Given the description of an element on the screen output the (x, y) to click on. 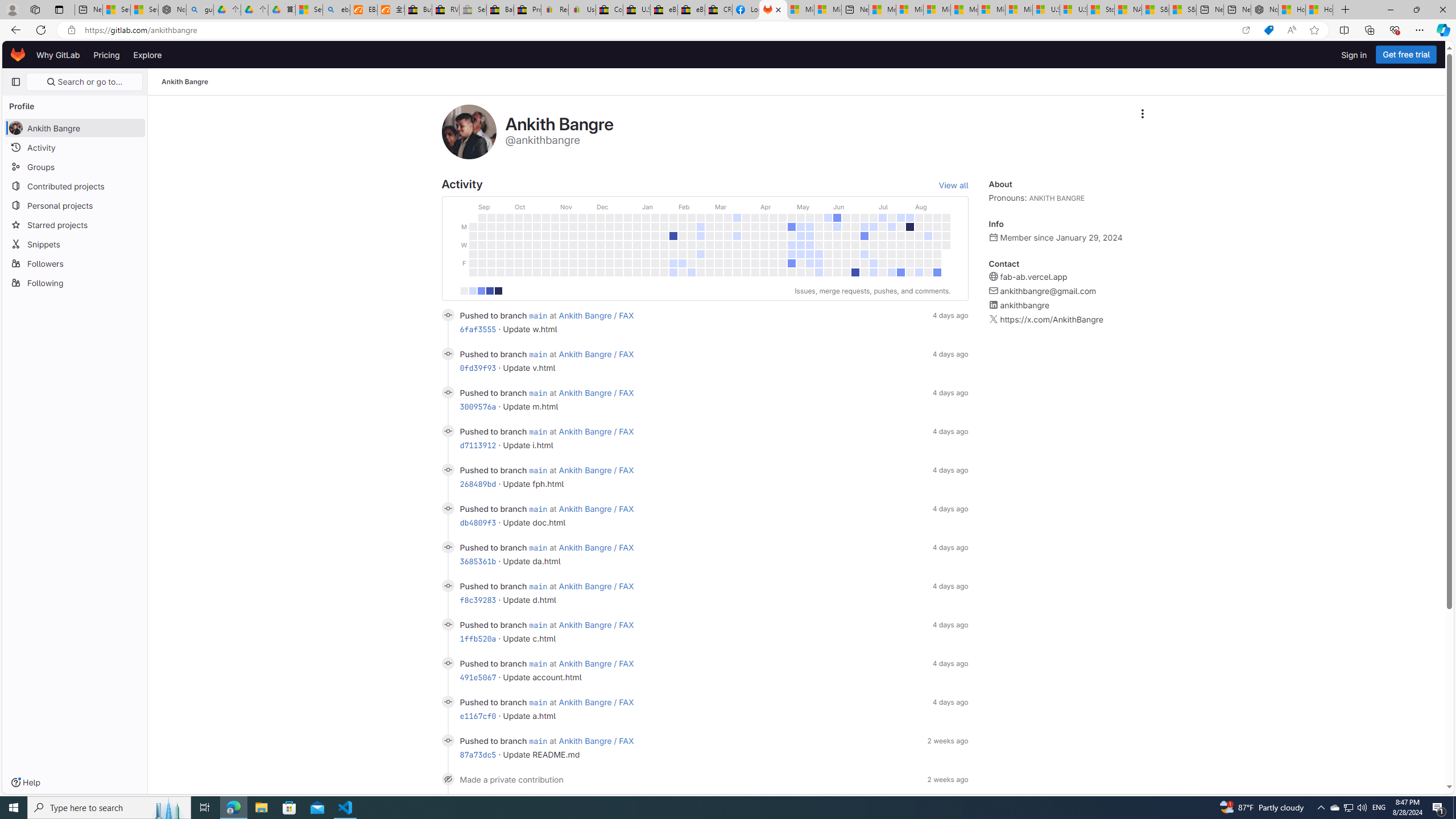
Activity (74, 147)
Contributed projects (74, 185)
